Given the description of an element on the screen output the (x, y) to click on. 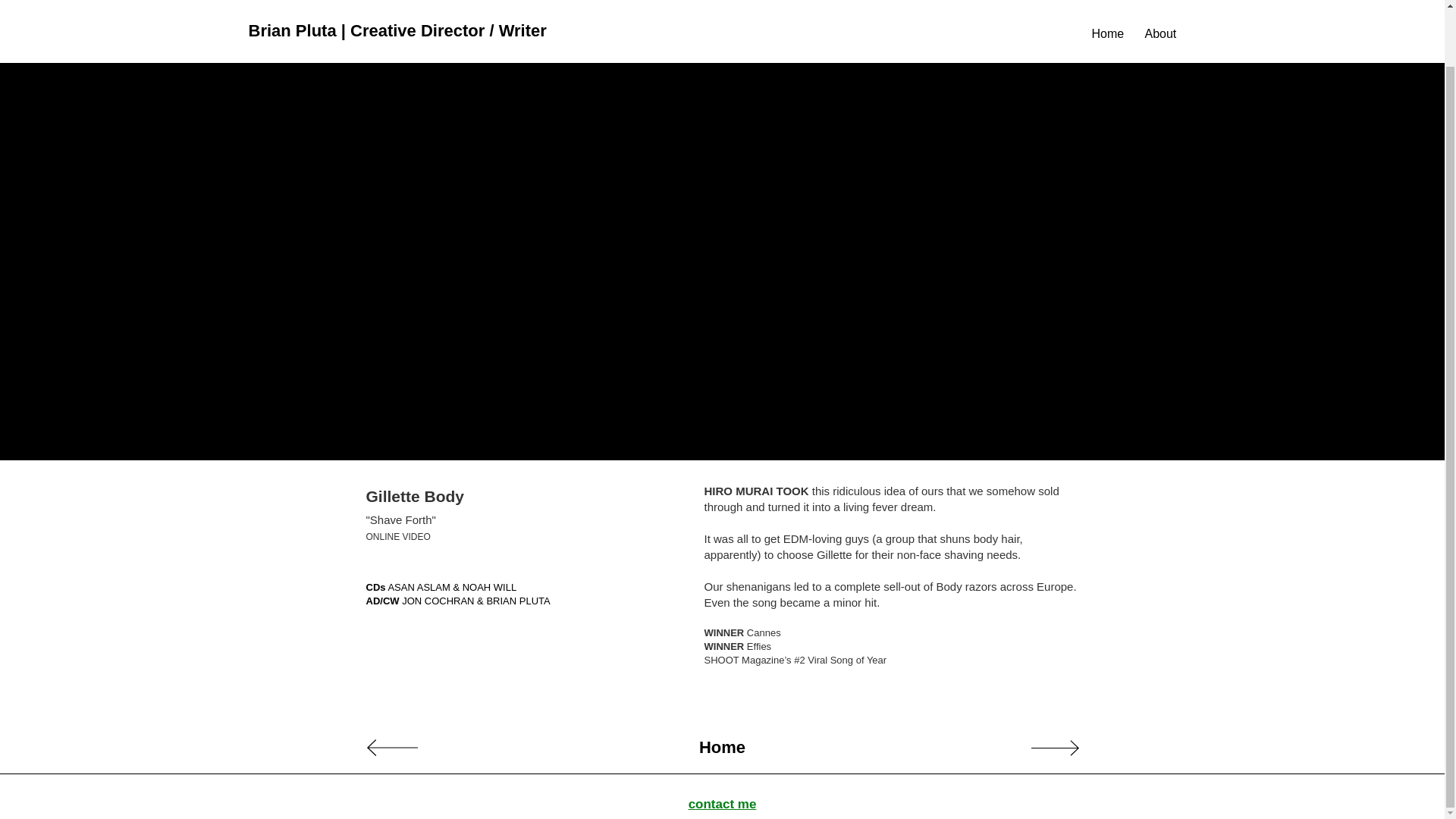
Home (722, 747)
contact me (722, 803)
